Given the description of an element on the screen output the (x, y) to click on. 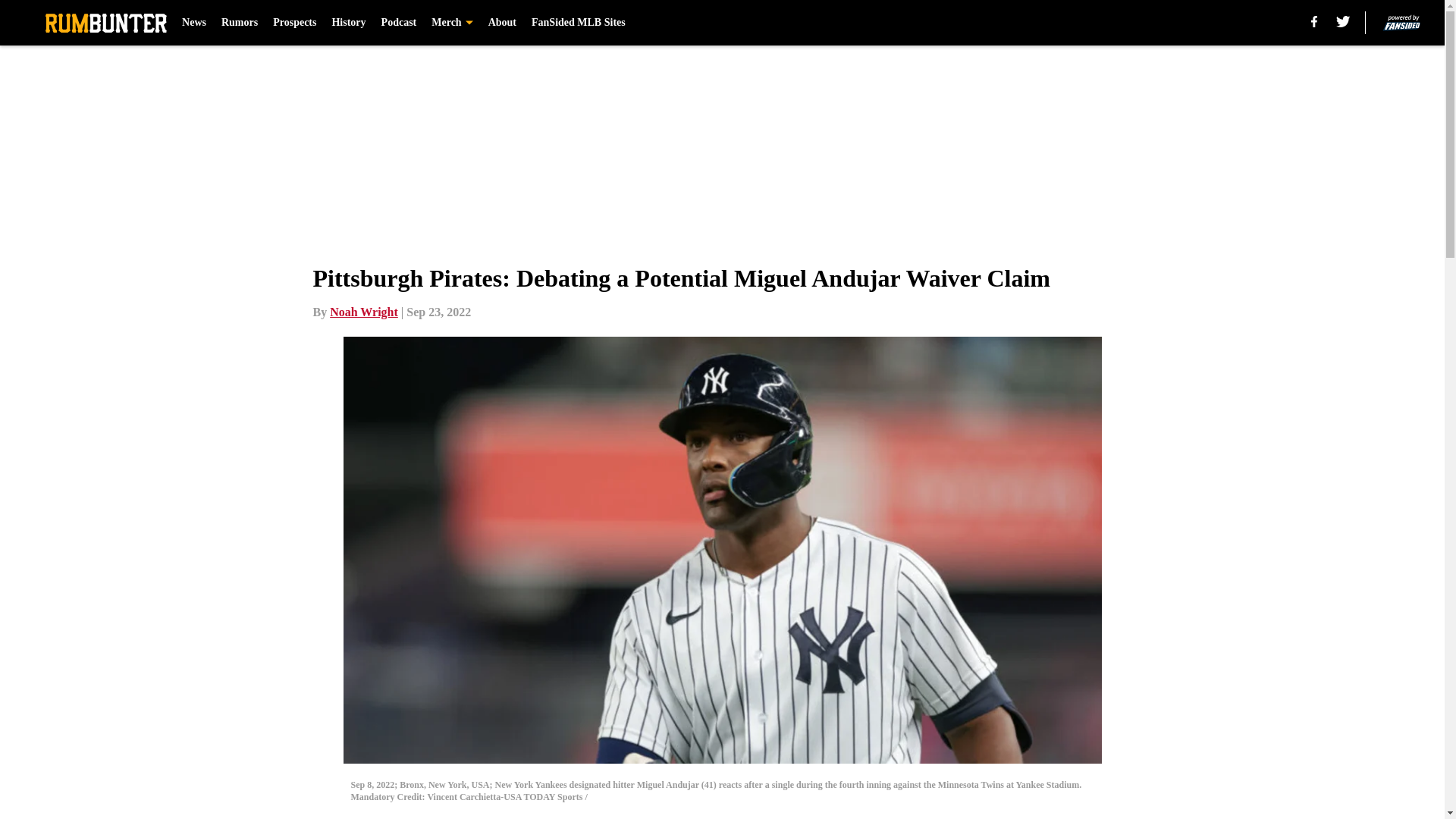
About (501, 22)
News (194, 22)
Noah Wright (363, 311)
Rumors (239, 22)
FanSided MLB Sites (578, 22)
History (348, 22)
Prospects (294, 22)
Podcast (398, 22)
